Given the description of an element on the screen output the (x, y) to click on. 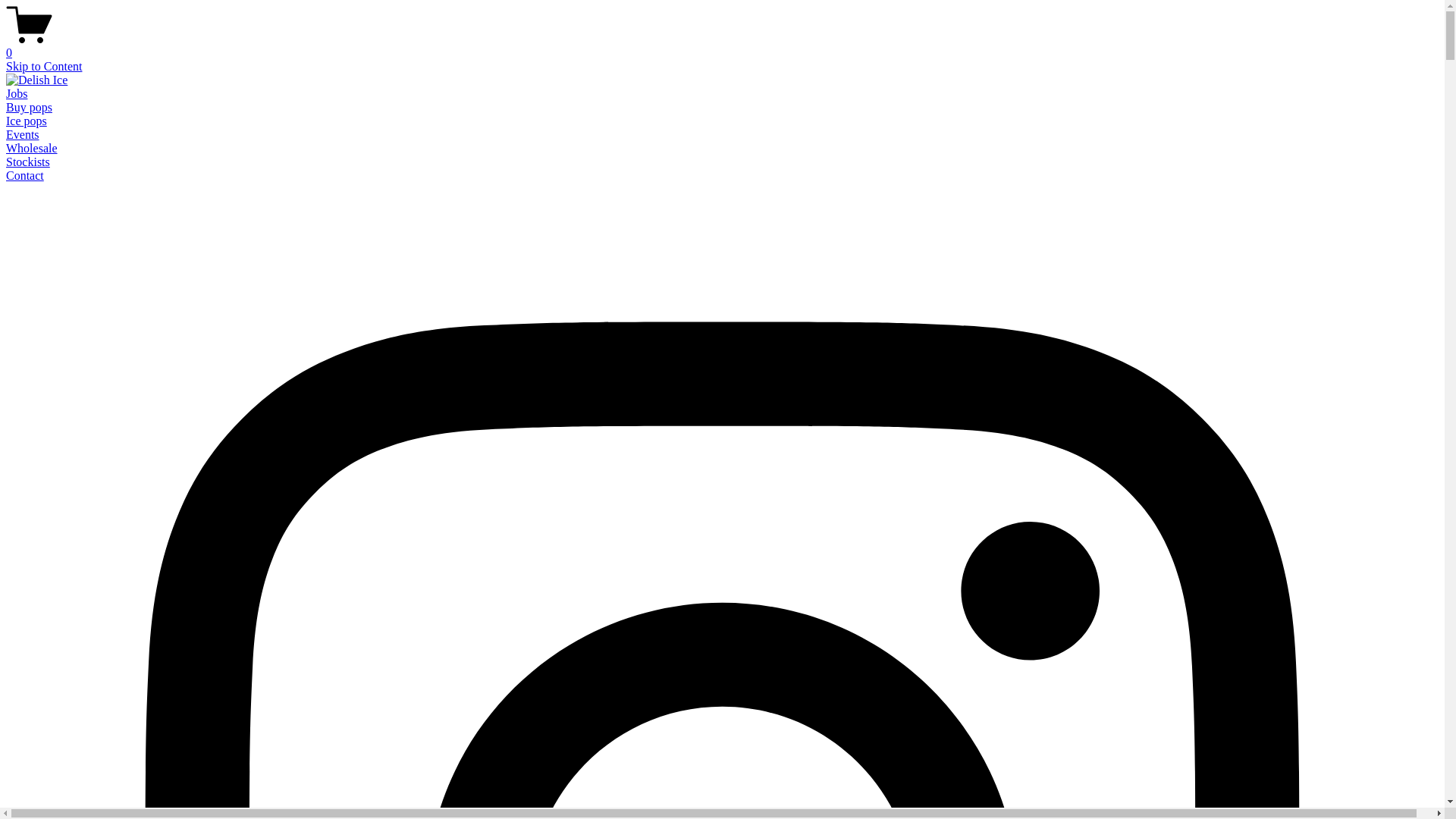
Ice pops Element type: text (26, 120)
Contact Element type: text (24, 175)
Stockists Element type: text (28, 161)
Jobs Element type: text (16, 93)
Buy pops Element type: text (29, 106)
Events Element type: text (22, 134)
Skip to Content Element type: text (43, 65)
Wholesale Element type: text (31, 147)
0 Element type: text (722, 45)
